Given the description of an element on the screen output the (x, y) to click on. 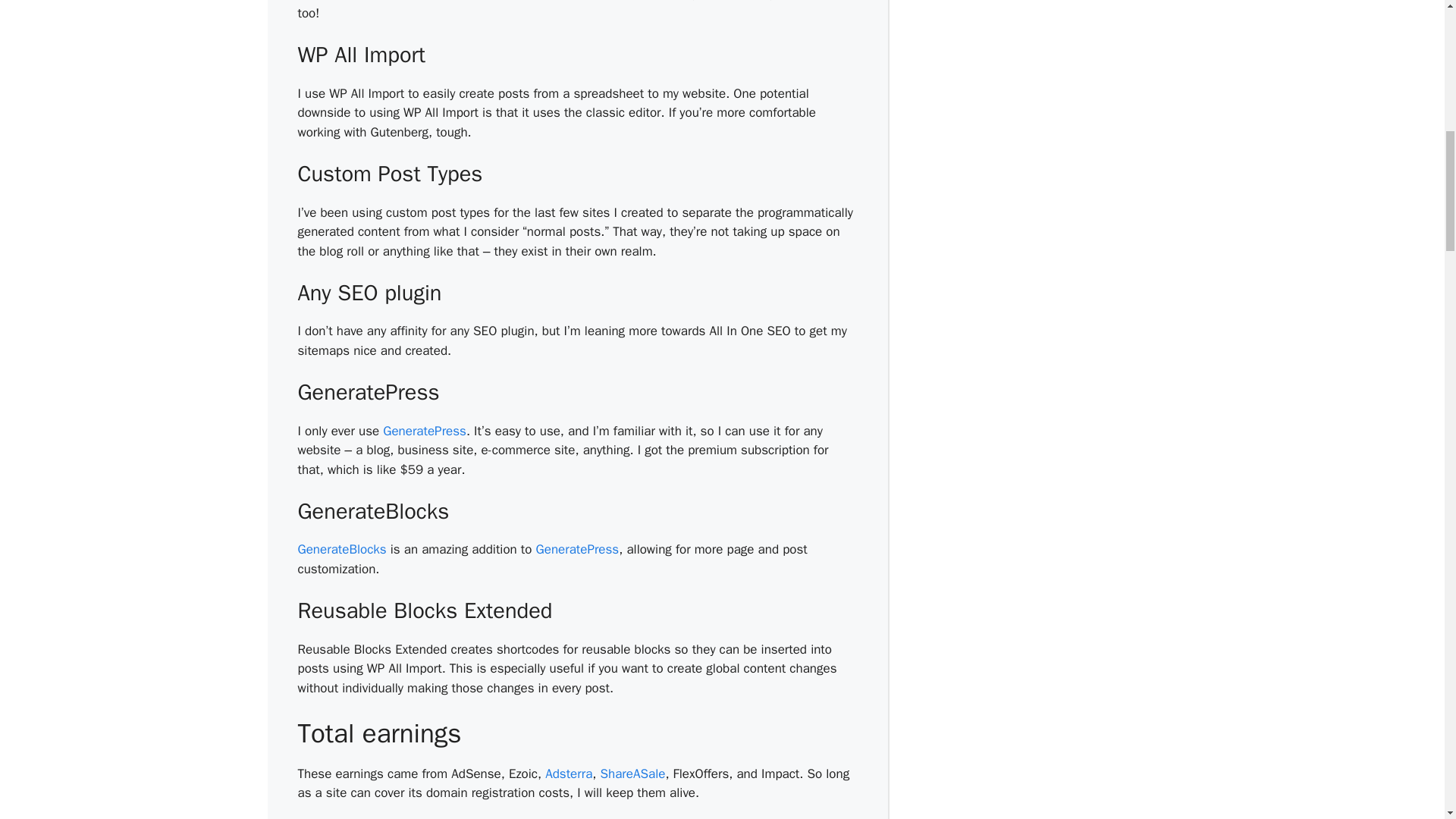
Adsterra (568, 773)
ShareASale (632, 773)
GenerateBlocks (341, 549)
Adsterra (568, 773)
GeneratePress (577, 549)
GeneratePress (423, 430)
GeneratePress (577, 549)
GeneratePress (423, 430)
GenerateBlocks (341, 549)
Shareasale (632, 773)
